Given the description of an element on the screen output the (x, y) to click on. 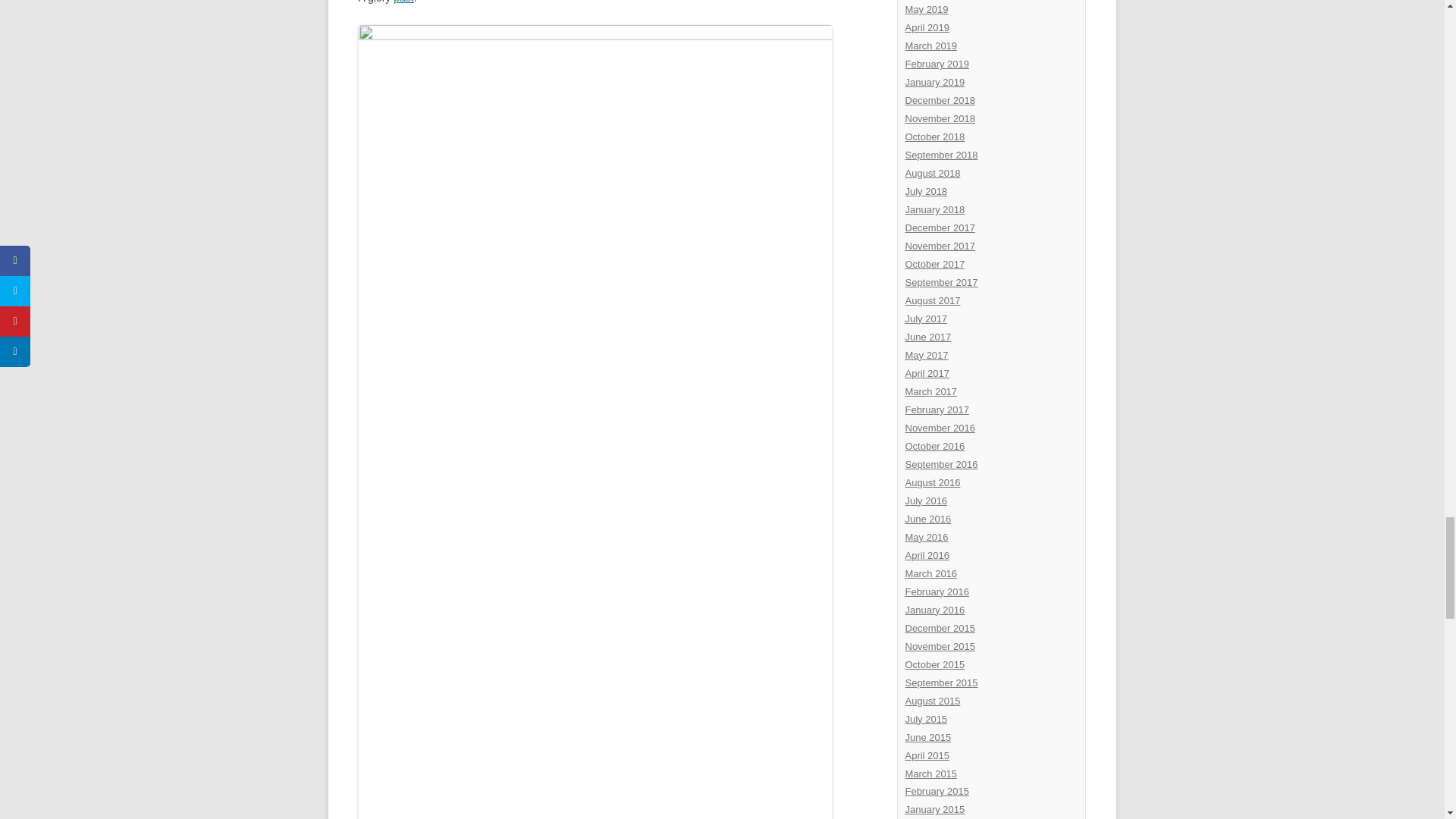
past (403, 2)
